Given the description of an element on the screen output the (x, y) to click on. 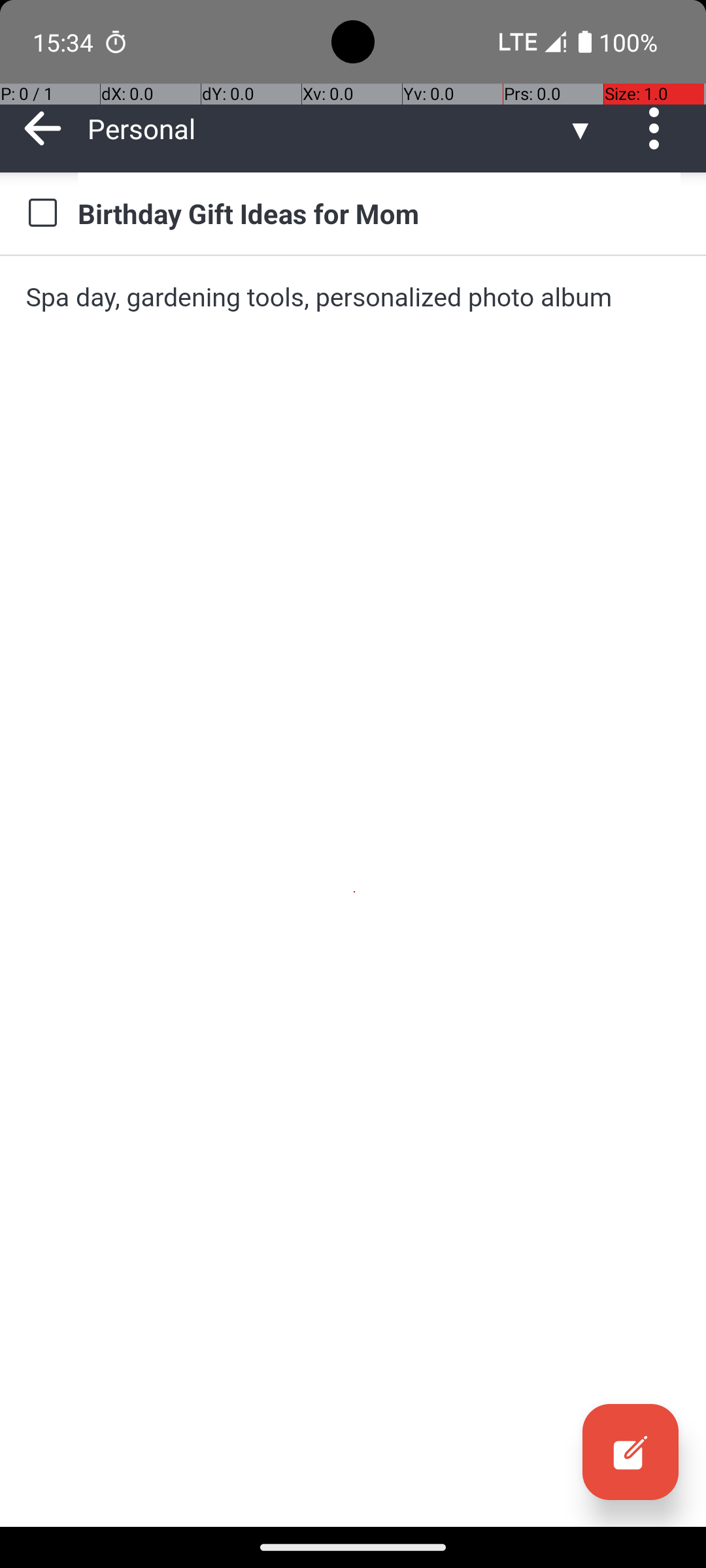
Birthday Gift Ideas for Mom Element type: android.widget.EditText (378, 213)
Spa day, gardening tools, personalized photo album Element type: android.widget.TextView (352, 296)
